Given the description of an element on the screen output the (x, y) to click on. 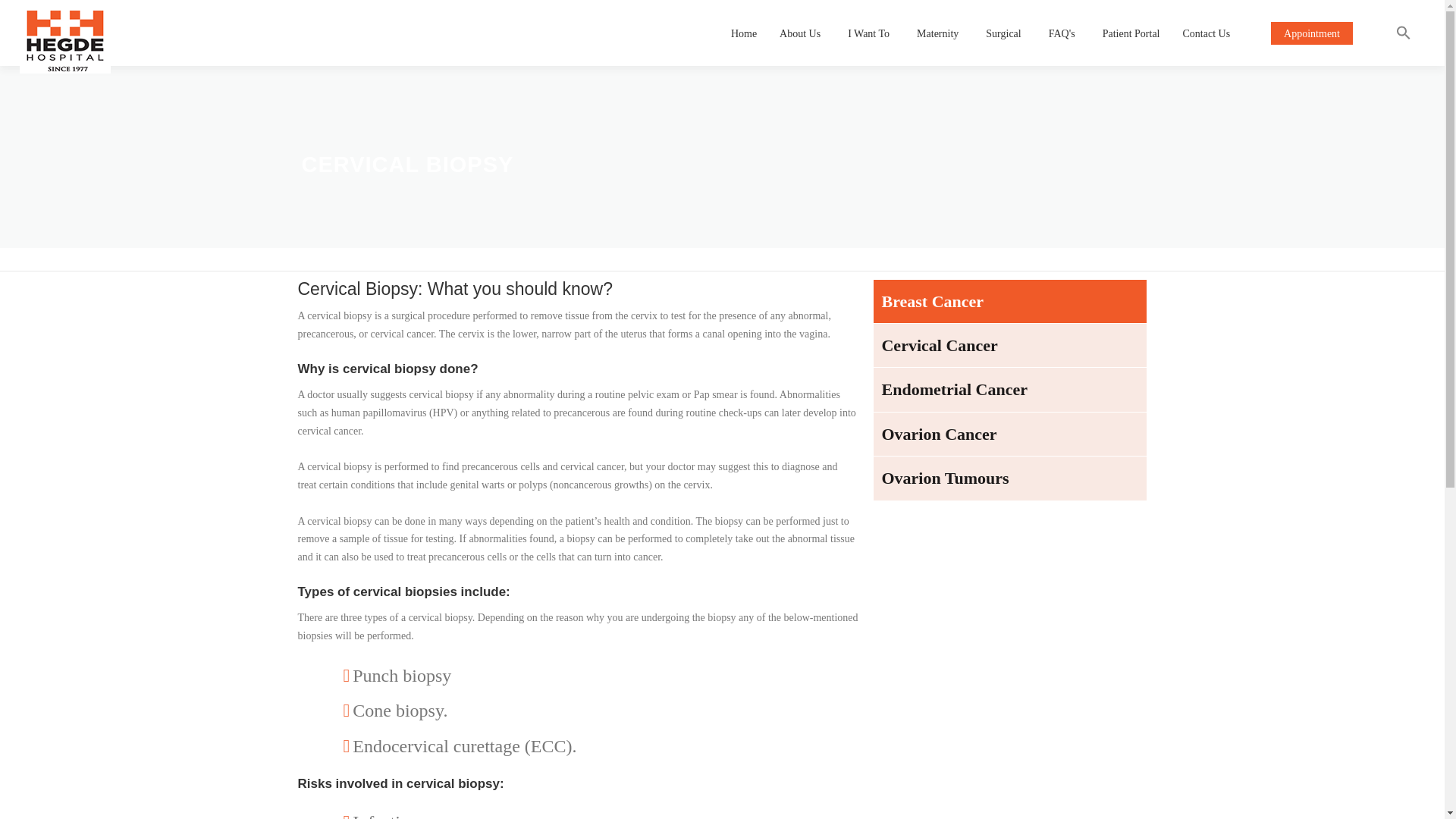
Maternity (939, 33)
I Want To (870, 33)
logo (65, 36)
Surgical (1005, 33)
About Us (801, 33)
